Given the description of an element on the screen output the (x, y) to click on. 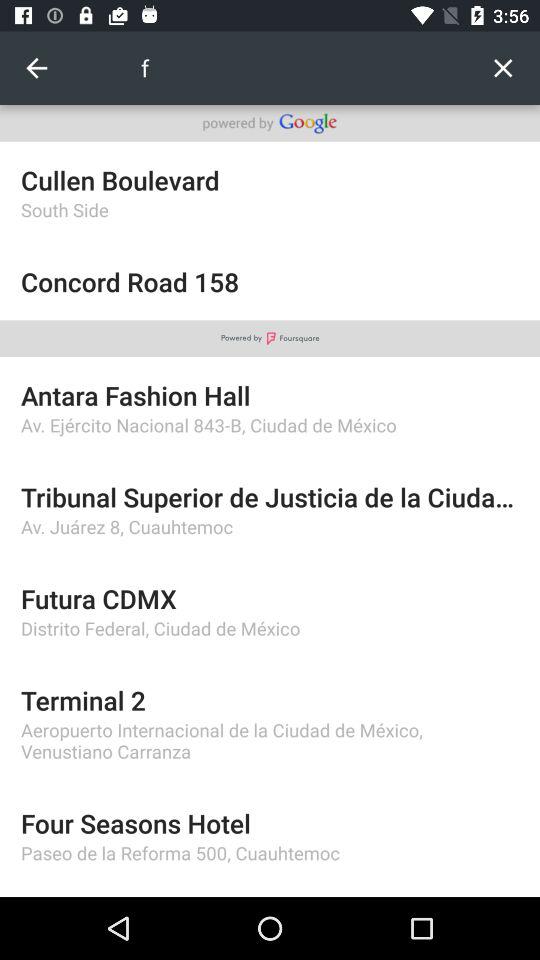
tap item to the left of the f (36, 68)
